Given the description of an element on the screen output the (x, y) to click on. 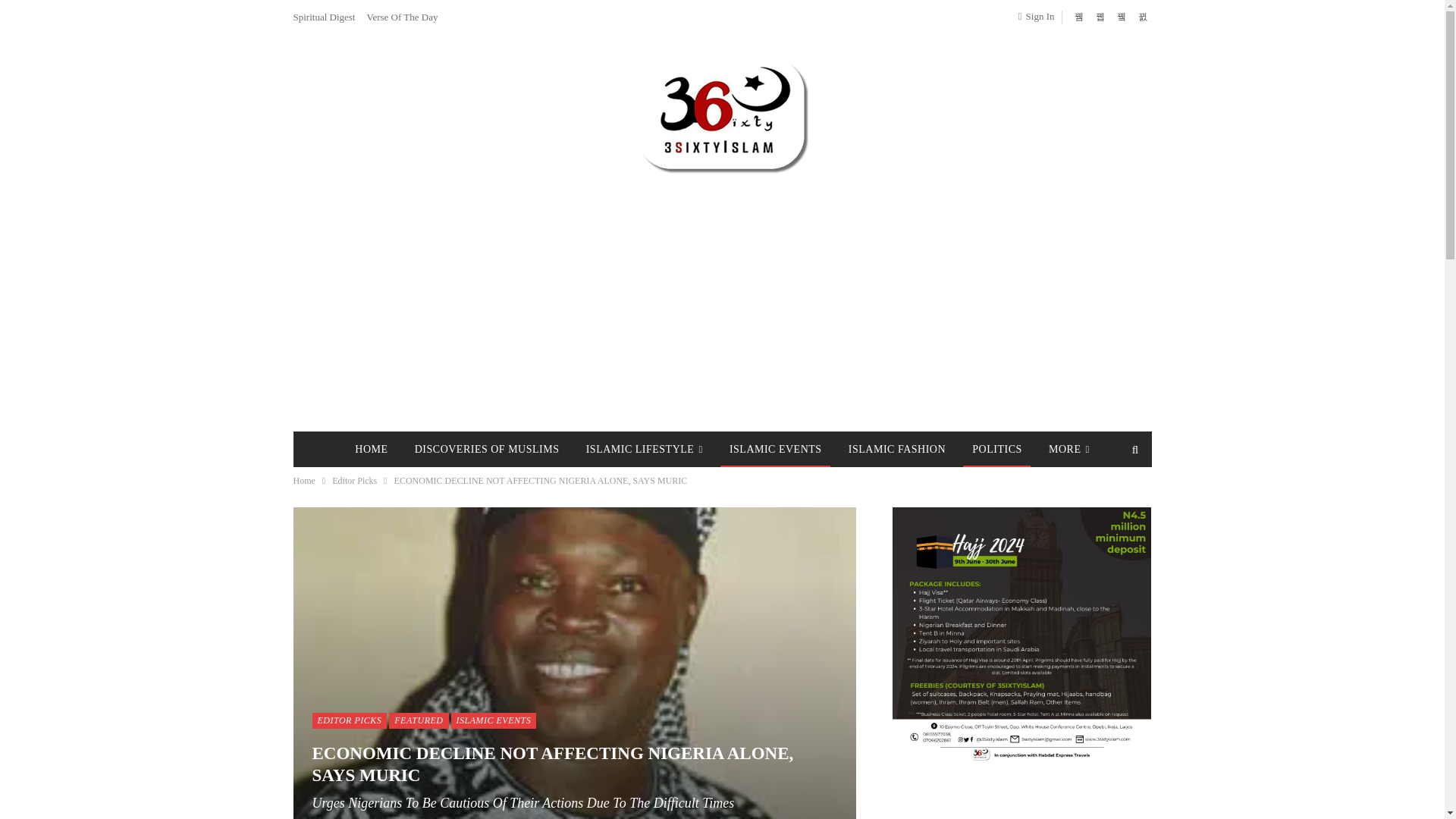
Spiritual Digest (323, 16)
Home (303, 480)
ISLAMIC LIFESTYLE (643, 449)
ISLAMIC EVENTS (775, 449)
Verse Of The Day (402, 16)
POLITICS (996, 449)
FEATURED (418, 720)
ISLAMIC FASHION (897, 449)
DISCOVERIES OF MUSLIMS (487, 449)
Editor Picks (354, 480)
HOME (371, 449)
Sign In (1039, 16)
MORE (1069, 449)
